Given the description of an element on the screen output the (x, y) to click on. 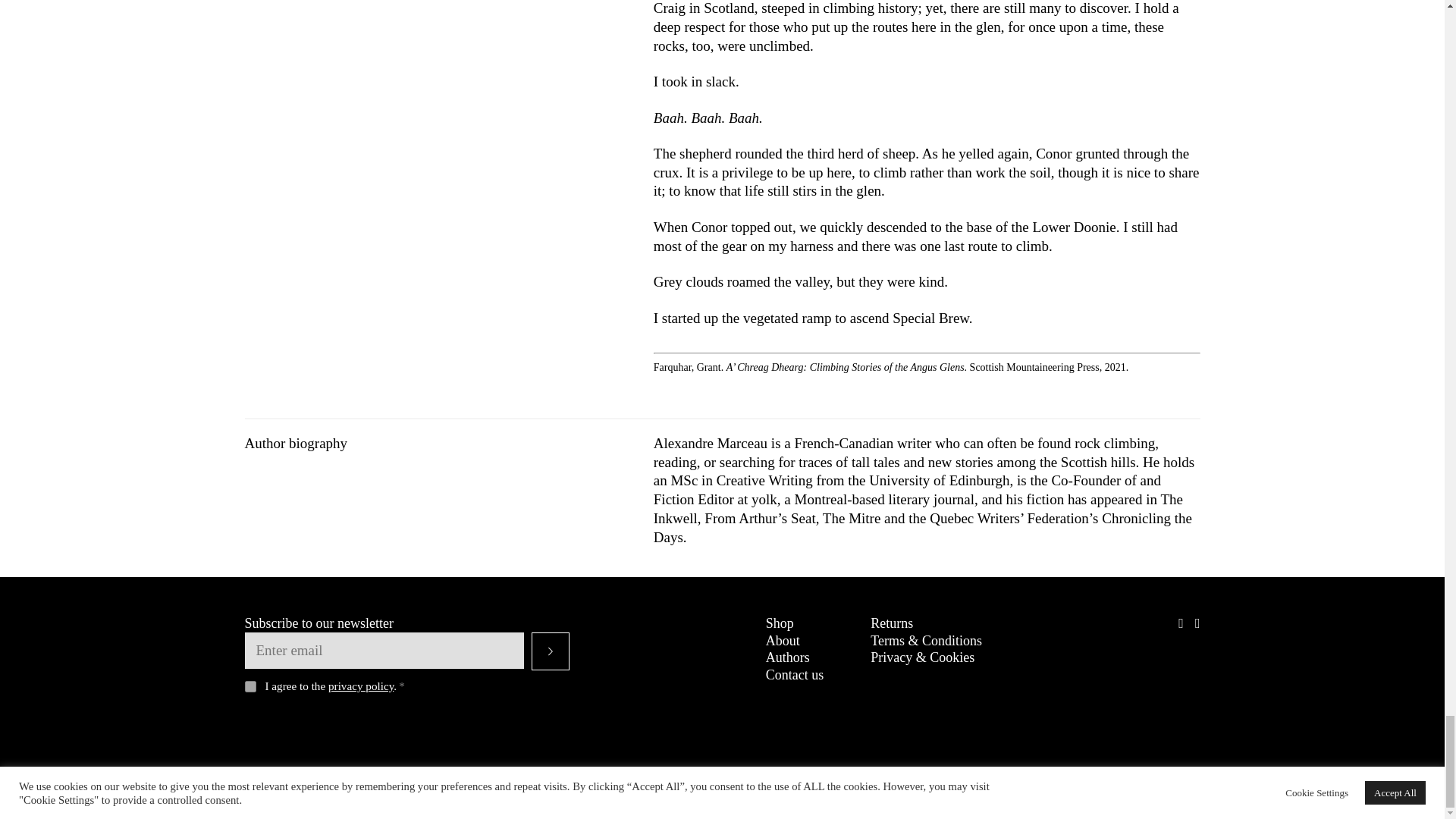
Contact us (794, 674)
Shop (779, 622)
Cookie preferences (1158, 781)
1 (250, 686)
privacy policy (361, 685)
Authors (787, 657)
Returns (891, 622)
About (782, 640)
Submit (550, 651)
Submit (550, 651)
